Given the description of an element on the screen output the (x, y) to click on. 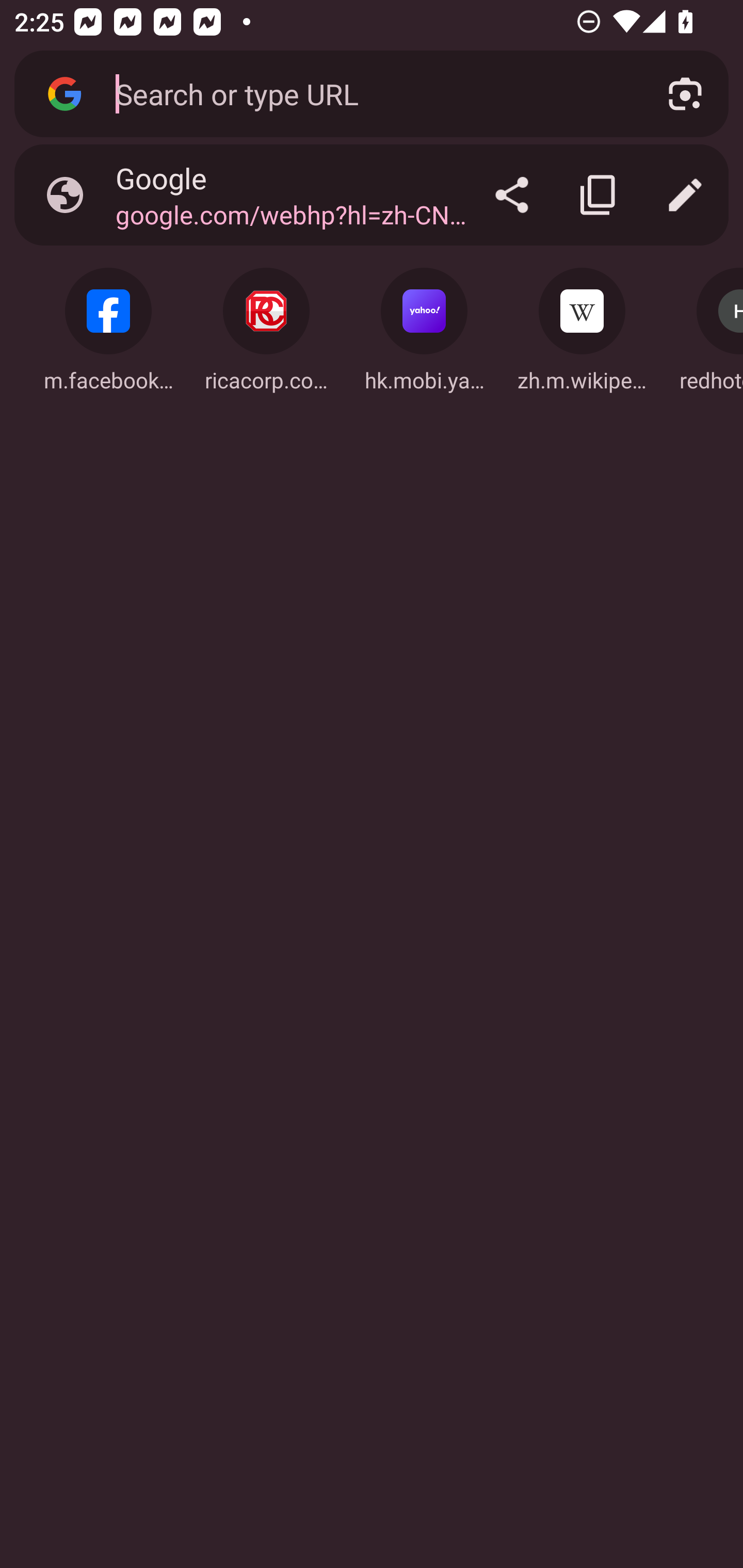
Search with your camera using Google Lens (684, 93)
Search or type URL (367, 92)
Share… (511, 195)
Copy link (598, 195)
Edit (684, 195)
